Given the description of an element on the screen output the (x, y) to click on. 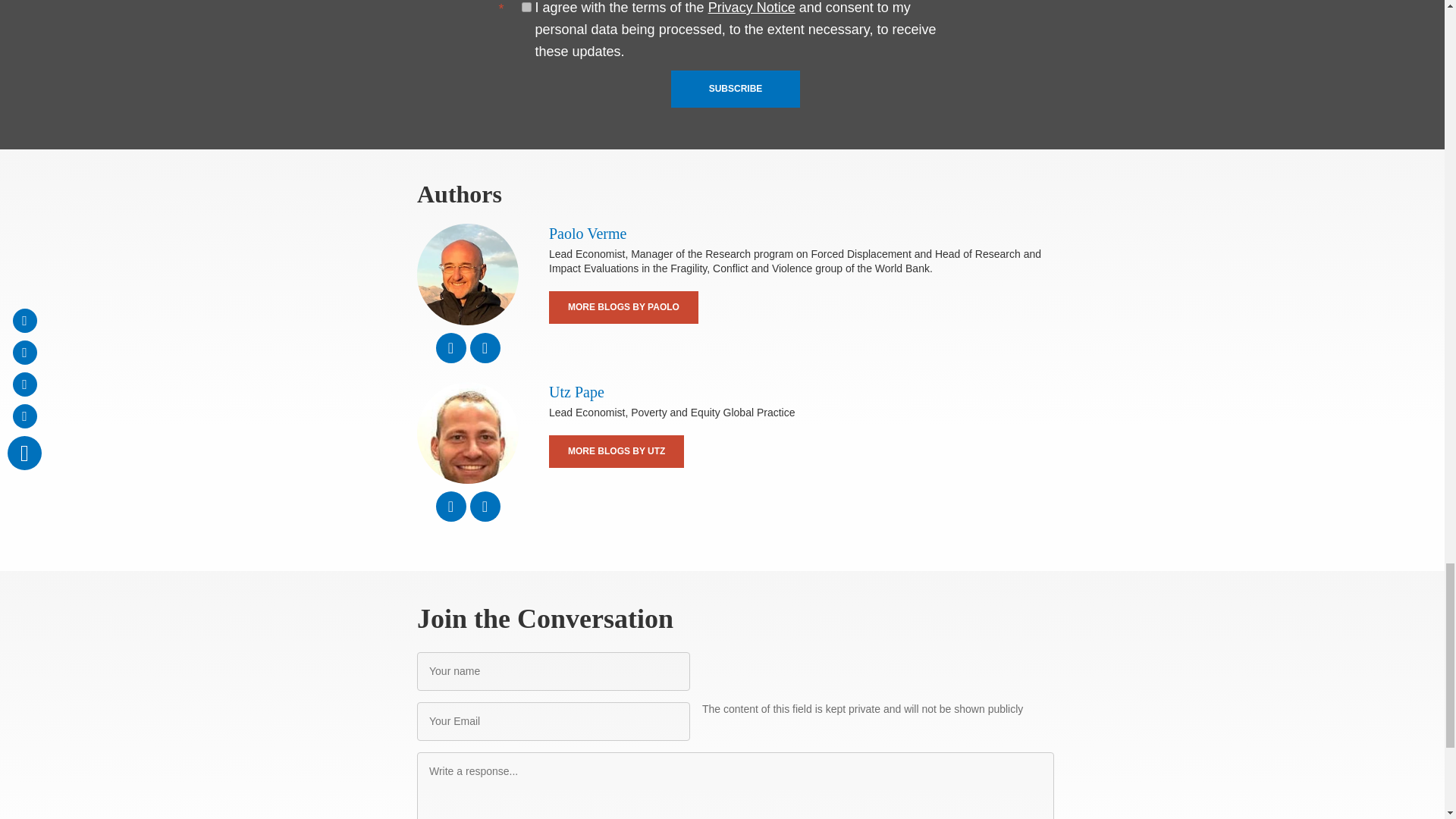
Privacy Notice (750, 7)
Utz Pape (467, 433)
Your name (553, 671)
Paolo Verme (467, 274)
1 (526, 7)
SUBSCRIBE (735, 88)
